Given the description of an element on the screen output the (x, y) to click on. 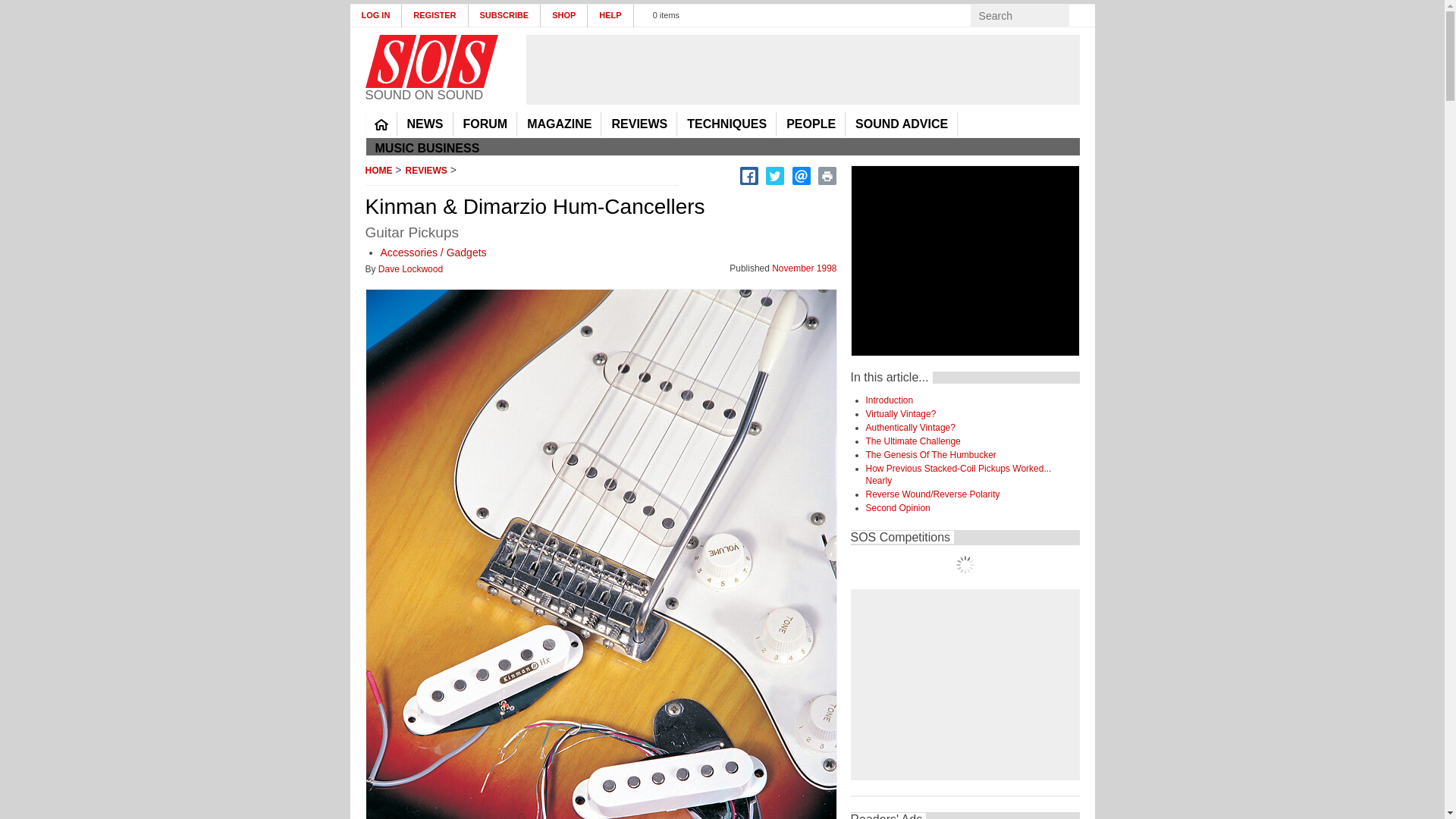
Search (1082, 15)
SUBSCRIBE (504, 15)
FORUM (484, 124)
Home (431, 61)
MAGAZINE (558, 124)
HOME (380, 124)
SHOP (564, 15)
LOG IN (376, 15)
NEWS (424, 124)
Search (1082, 15)
HELP (610, 15)
REGISTER (434, 15)
